Given the description of an element on the screen output the (x, y) to click on. 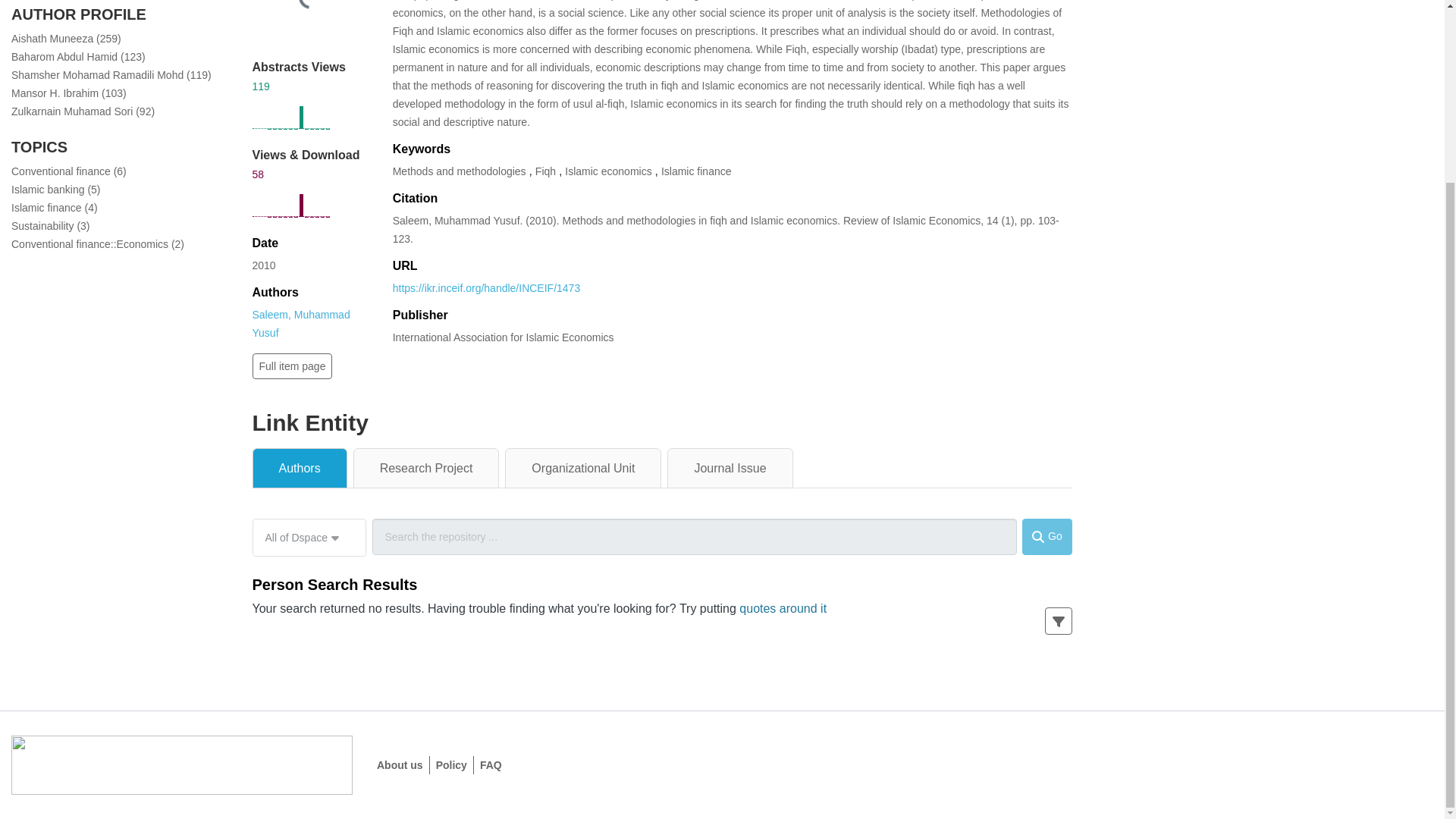
TOPICS (38, 146)
AUTHOR PROFILE (79, 13)
